Given the description of an element on the screen output the (x, y) to click on. 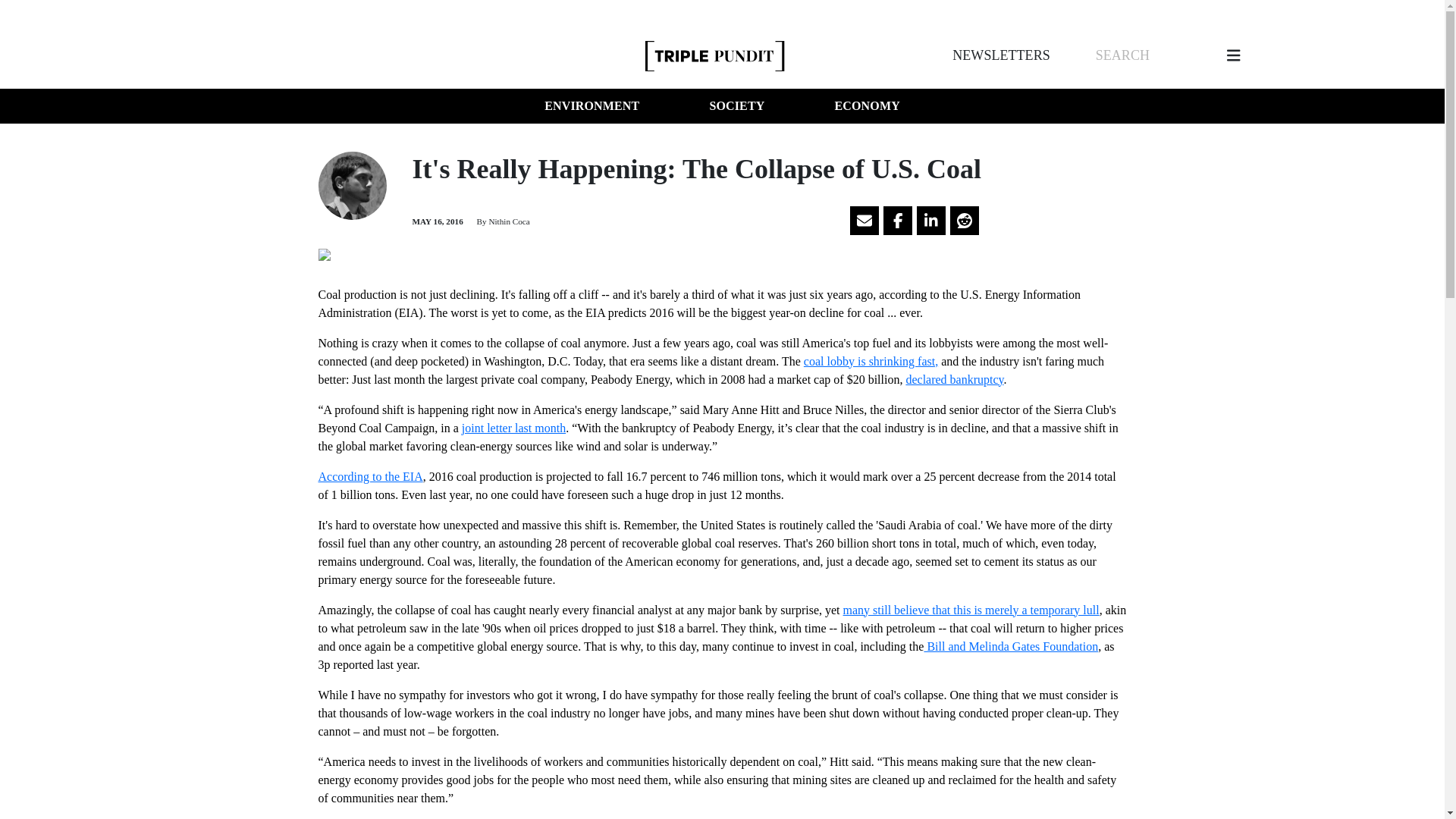
declared bankruptcy (954, 379)
ECONOMY (866, 105)
According to the EIA (370, 476)
SEARCH (1122, 55)
By Nithin Coca (501, 221)
coal lobby is shrinking fast, (870, 360)
SOCIETY (736, 105)
joint letter last month (513, 427)
Bill and Melinda Gates Foundation (1010, 645)
ENVIRONMENT (591, 105)
